Given the description of an element on the screen output the (x, y) to click on. 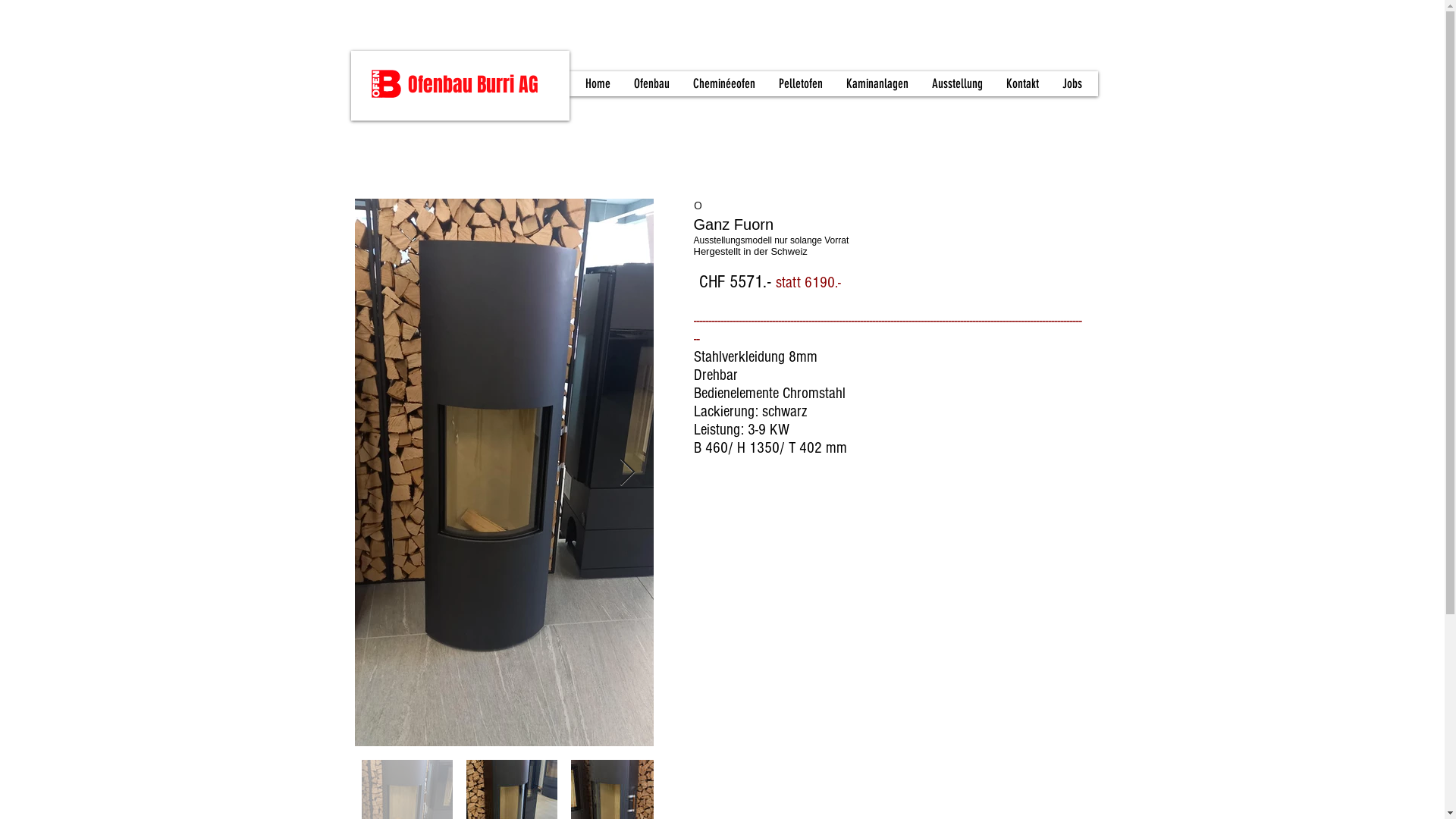
Ausstellung Element type: text (956, 83)
Home Element type: text (597, 83)
Kaminanlagen Element type: text (876, 83)
Jobs Element type: text (1071, 83)
Ofenbau Burri AG Element type: text (472, 84)
Pelletofen Element type: text (800, 83)
Kontakt Element type: text (1022, 83)
Ofenbau Element type: text (650, 83)
